Given the description of an element on the screen output the (x, y) to click on. 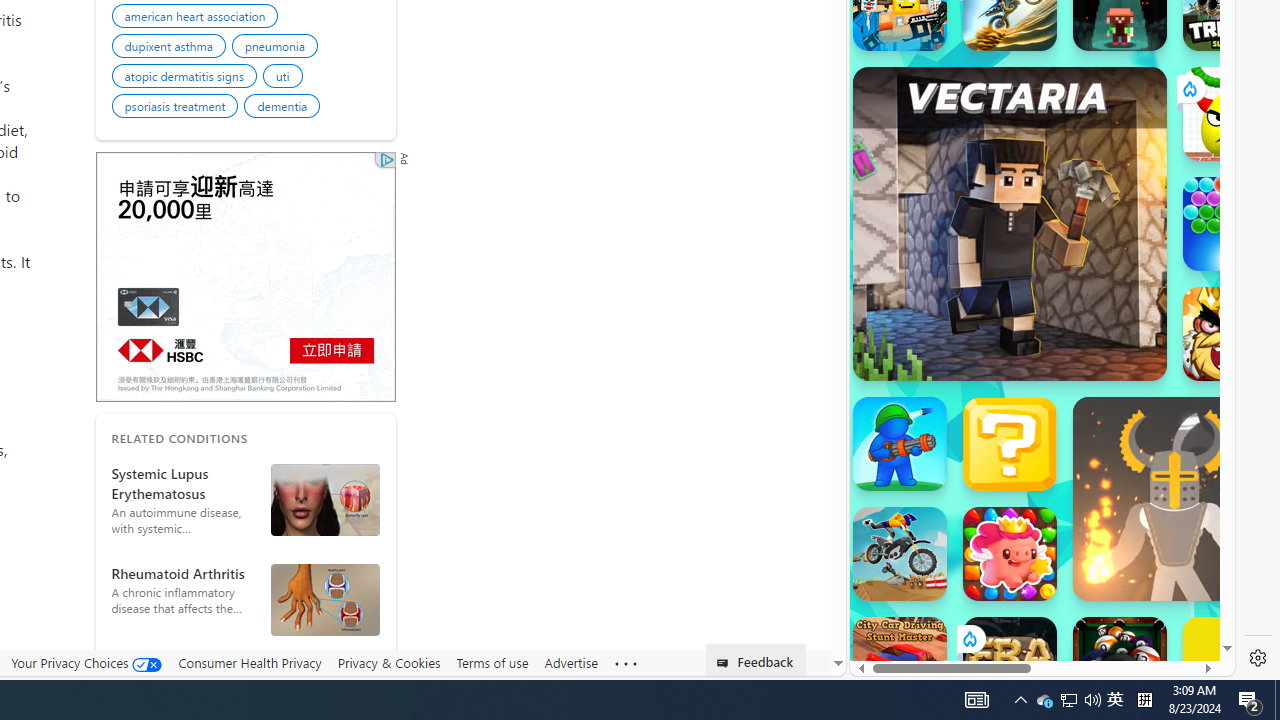
Mystery Tile (1009, 443)
Crazy Cars (1217, 290)
Hills of Steel (925, 290)
Combat Reloaded Combat Reloaded poki.com (1092, 245)
Advertisement (244, 276)
War Master War Master (899, 443)
See more related conditions (244, 668)
Vectaria.io (1009, 223)
Era: Evolution Era: Evolution (1009, 664)
dupixent asthma (171, 48)
Vectaria.io (1009, 223)
